Given the description of an element on the screen output the (x, y) to click on. 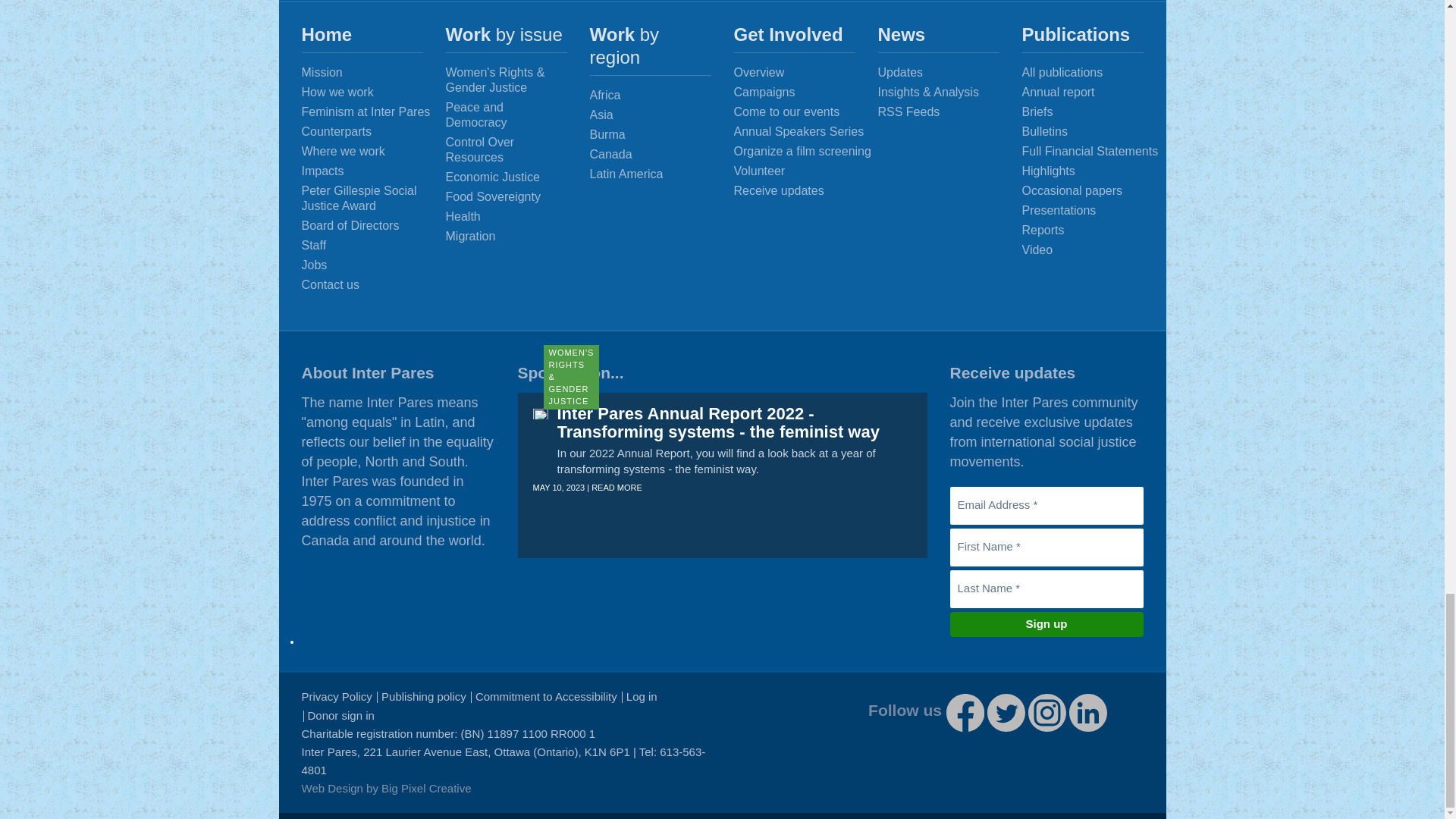
Upcoming events (806, 111)
